Given the description of an element on the screen output the (x, y) to click on. 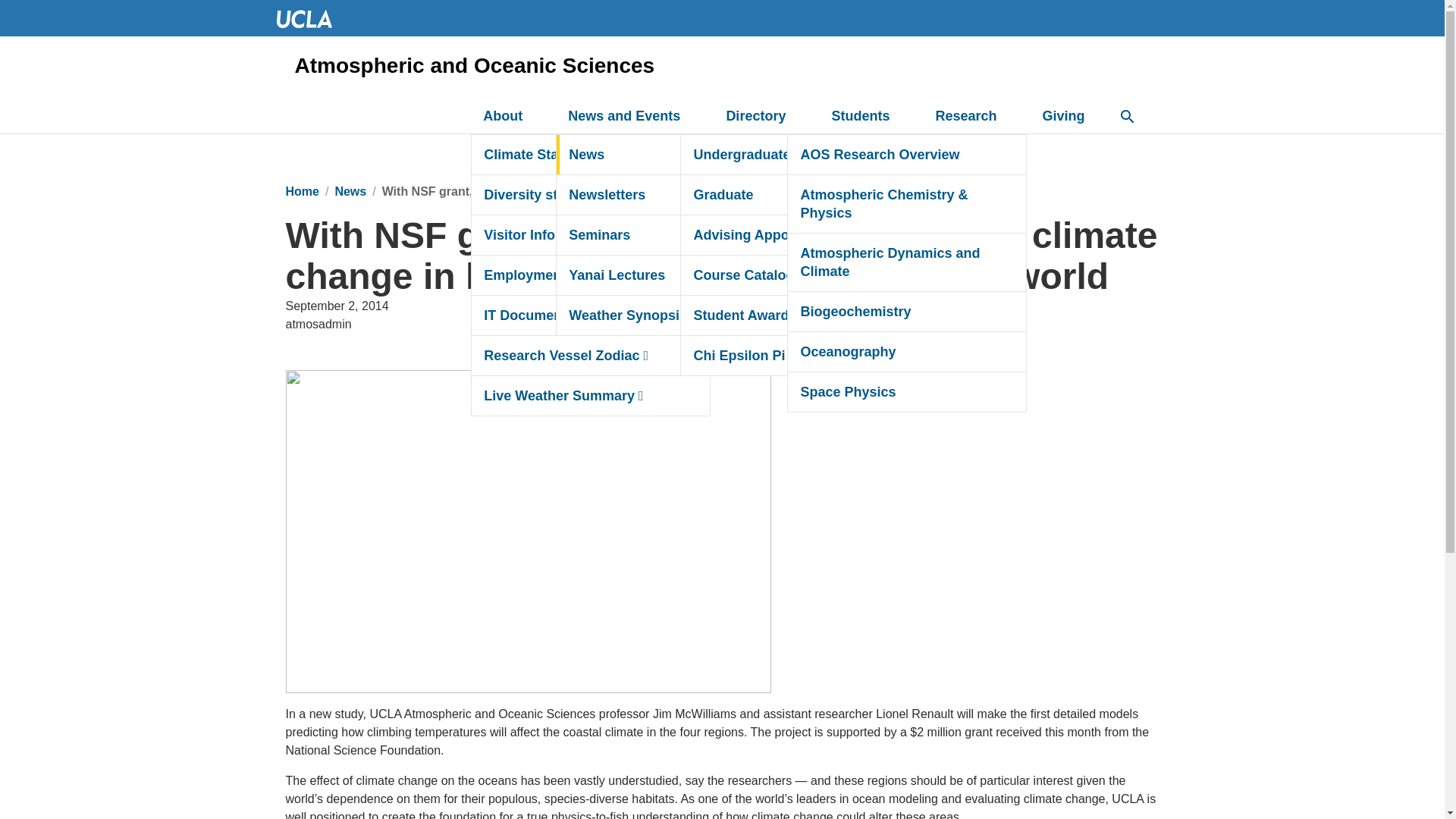
Staff (833, 274)
Yanai Lectures (675, 274)
Undergraduate (799, 154)
Advising Appointment Request (799, 234)
Directory (764, 117)
News and Events (633, 117)
Search Icon (1127, 116)
About (511, 117)
Research (974, 117)
Newsletters (675, 194)
Graduate Students (833, 194)
Seminars (675, 234)
Weather Synopsis (675, 314)
Diversity statement (590, 194)
Students (869, 117)
